Given the description of an element on the screen output the (x, y) to click on. 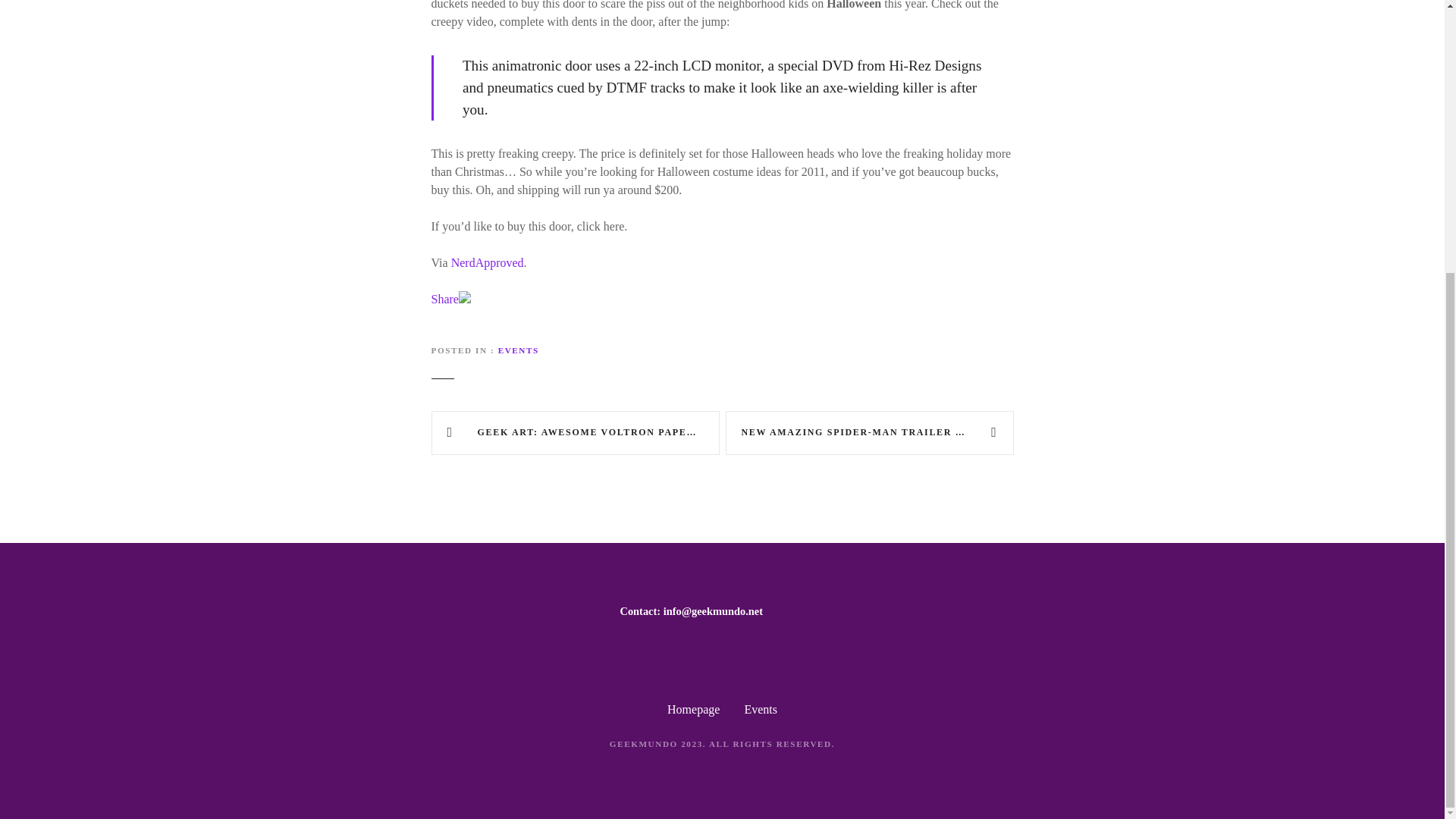
EVENTS (517, 349)
NEW AMAZING SPIDER-MAN TRAILER HITS WEB! (869, 433)
Share (444, 298)
Homepage (692, 708)
NerdApproved (487, 262)
Events (760, 708)
GEEK ART: AWESOME VOLTRON PAPER MODEL ALSO TRANSFORMS! (574, 433)
